Given the description of an element on the screen output the (x, y) to click on. 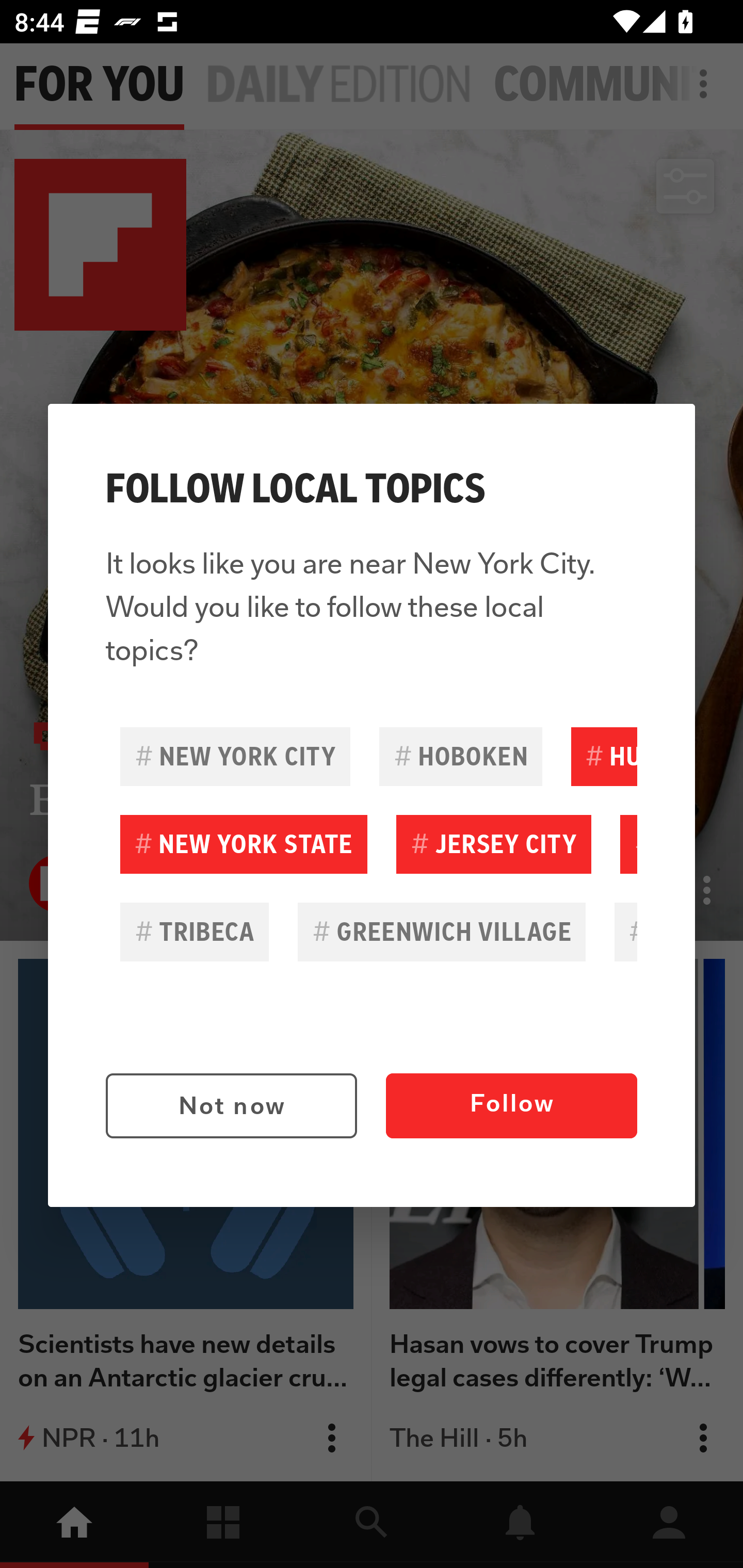
# NEW YORK CITY (235, 756)
# HOBOKEN (460, 756)
# NEW YORK STATE (243, 844)
# JERSEY CITY (493, 844)
# TRIBECA (194, 932)
# GREENWICH VILLAGE (441, 932)
Not now (231, 1106)
Follow (511, 1106)
